Given the description of an element on the screen output the (x, y) to click on. 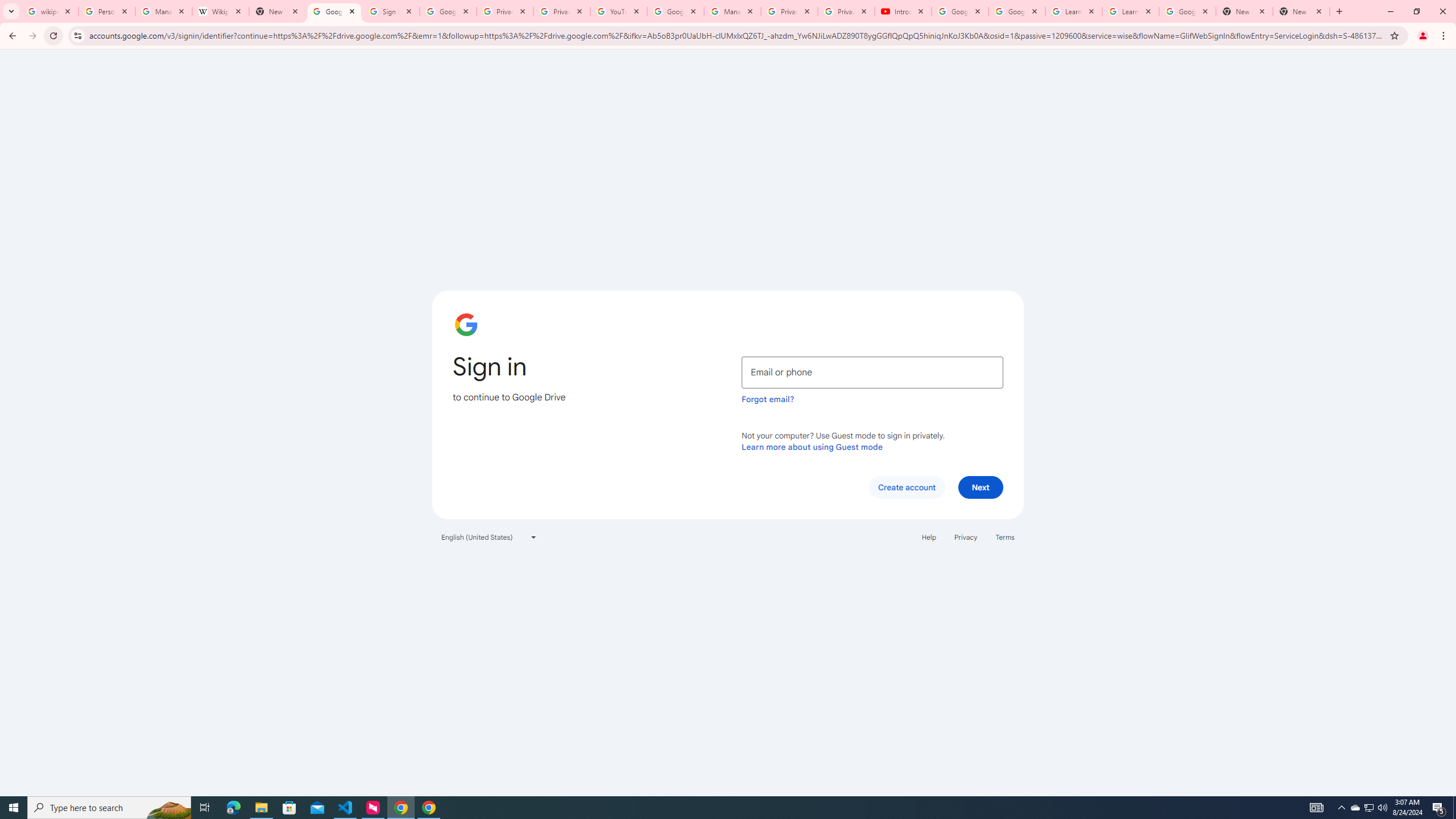
Help (928, 536)
Create account (905, 486)
Sign in - Google Accounts (391, 11)
Privacy (965, 536)
